Given the description of an element on the screen output the (x, y) to click on. 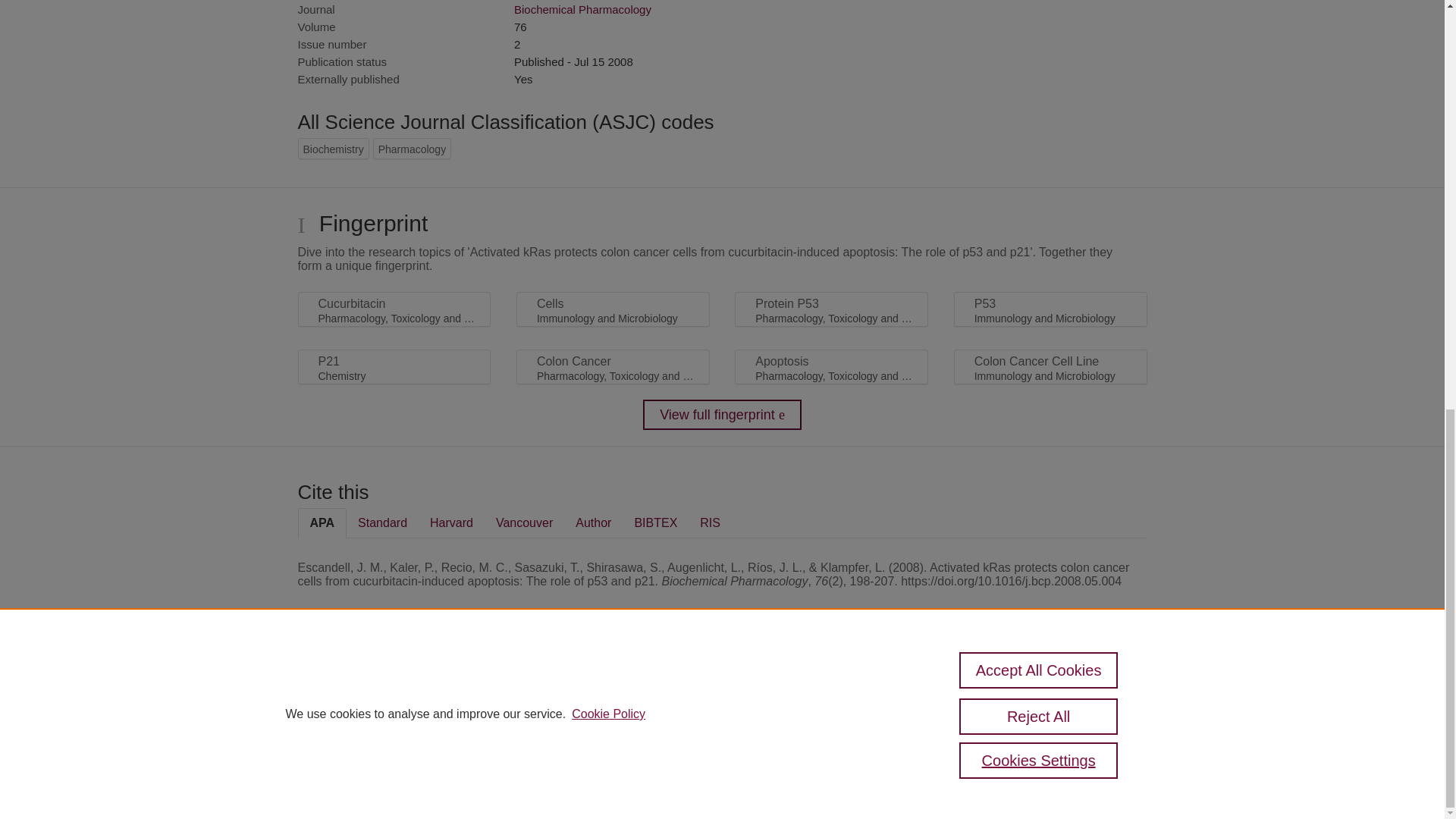
Elsevier B.V. (506, 707)
Pure (362, 686)
Biochemical Pharmacology (581, 9)
View full fingerprint (722, 414)
Scopus (394, 686)
